Given the description of an element on the screen output the (x, y) to click on. 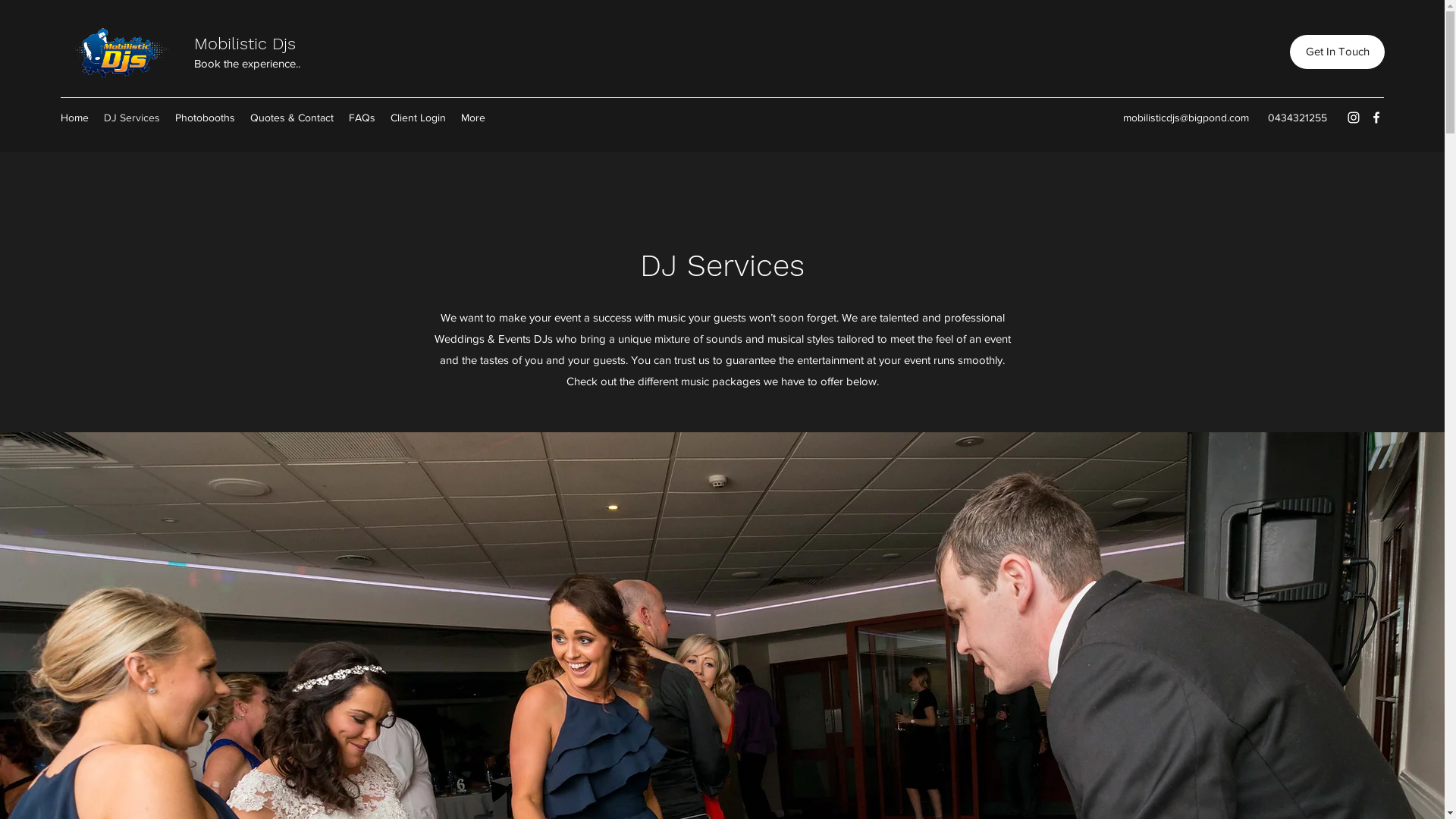
Photobooths Element type: text (204, 117)
FAQs Element type: text (361, 117)
DJ Services Element type: text (131, 117)
mobilisticdjs@bigpond.com Element type: text (1185, 117)
Home Element type: text (74, 117)
Quotes & Contact Element type: text (291, 117)
Client Login Element type: text (417, 117)
